Given the description of an element on the screen output the (x, y) to click on. 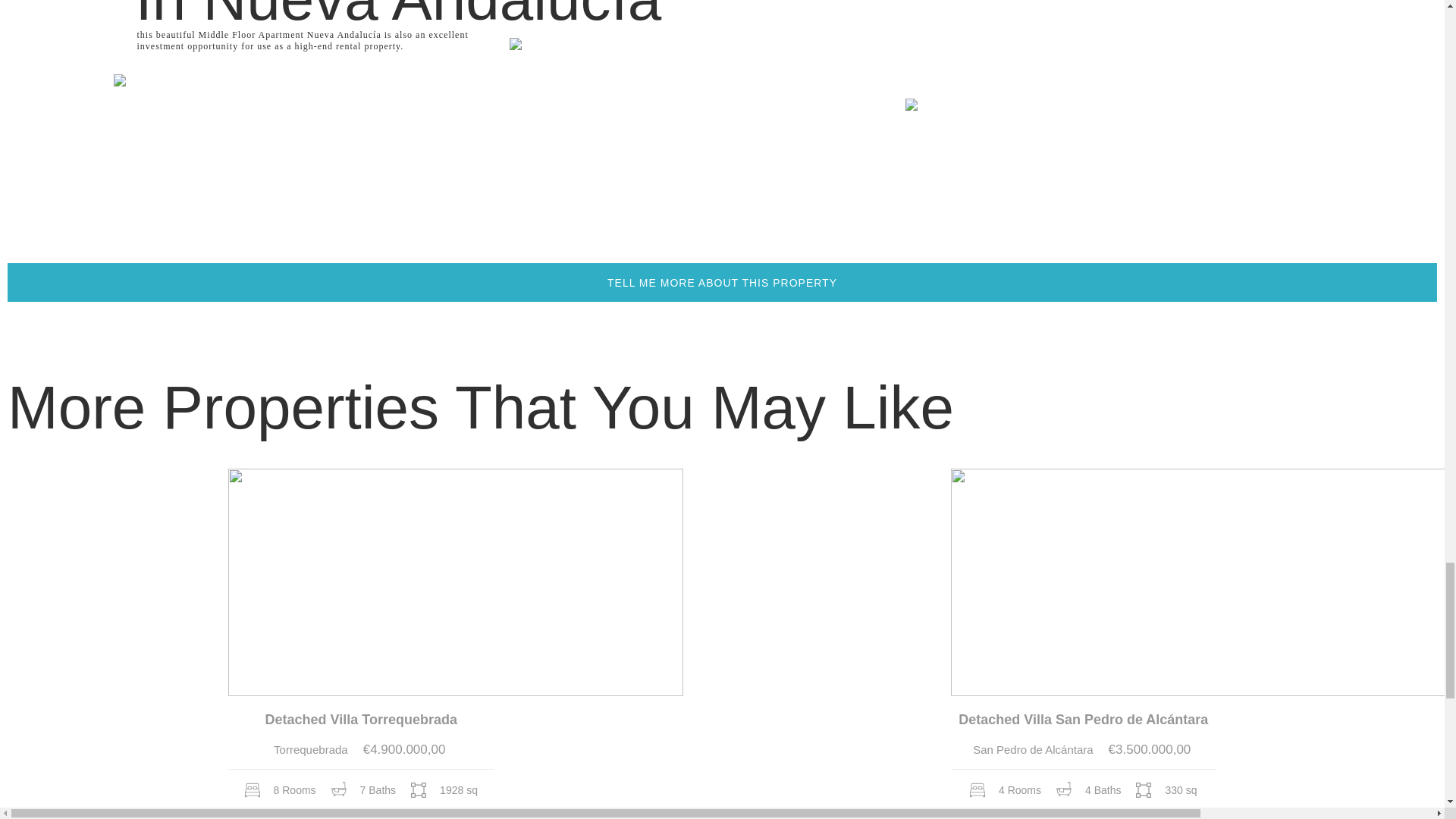
TELL ME MORE ABOUT THIS PROPERTY (722, 282)
Detached Villa Torrequebrada (360, 719)
